Given the description of an element on the screen output the (x, y) to click on. 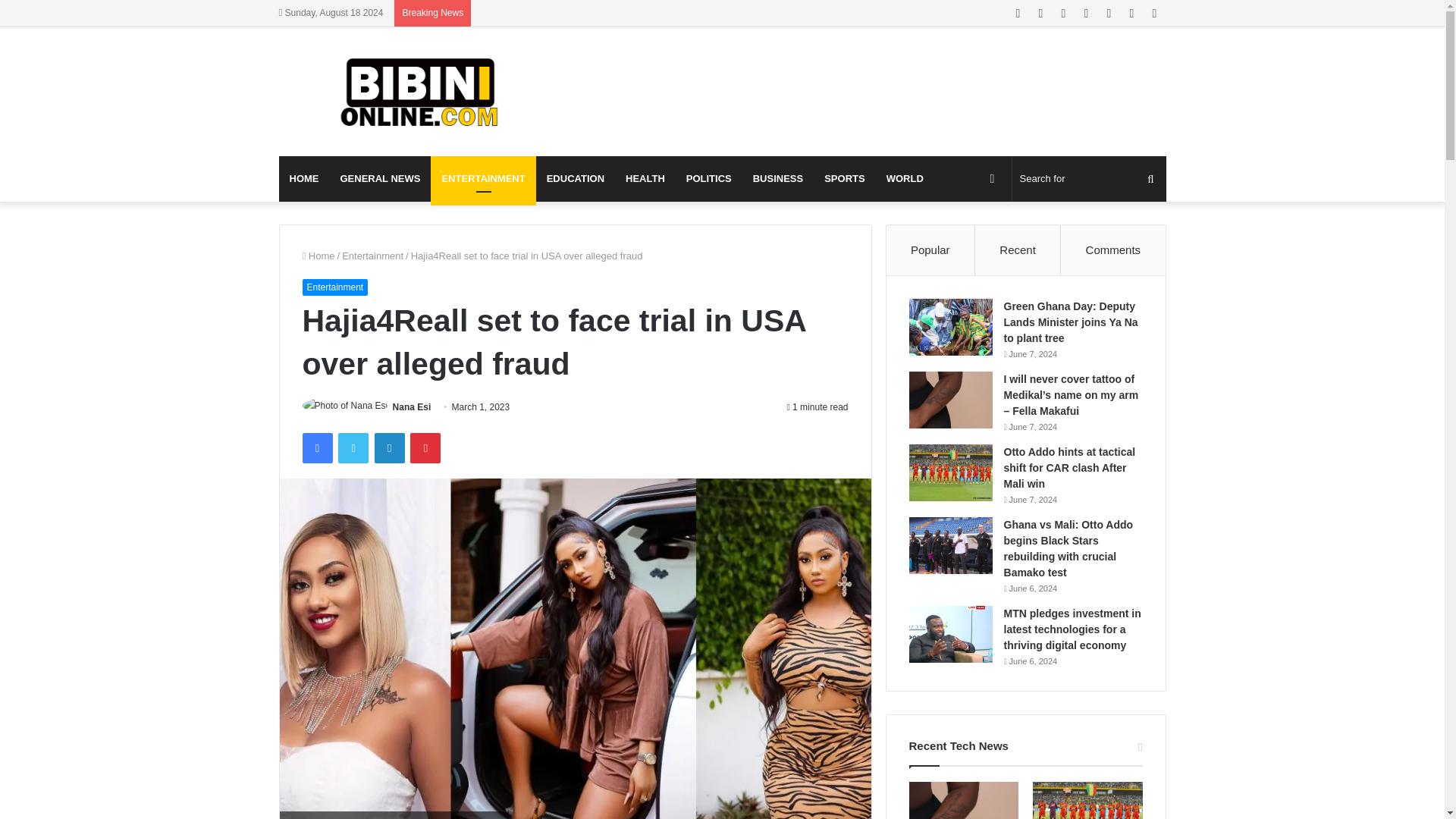
ENTERTAINMENT (482, 178)
WORLD (905, 178)
LinkedIn (389, 448)
HEALTH (644, 178)
EDUCATION (574, 178)
Home (317, 255)
LinkedIn (389, 448)
SPORTS (844, 178)
Twitter (352, 448)
Bibini Online (419, 91)
